Given the description of an element on the screen output the (x, y) to click on. 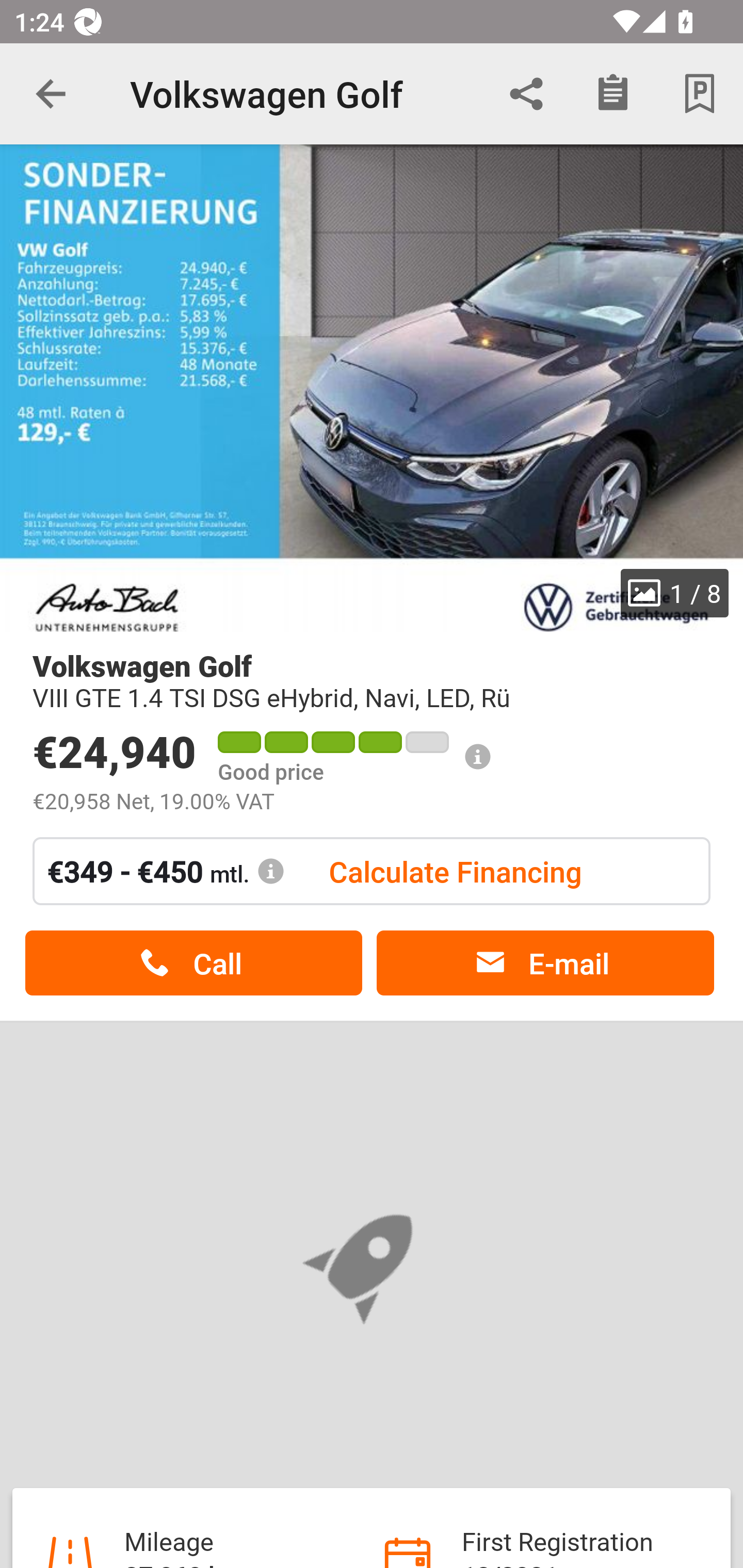
Navigate up (50, 93)
Share via (525, 93)
Checklist (612, 93)
Park (699, 93)
Calculate Financing (454, 870)
€349 - €450 mtl. (165, 870)
Call (193, 963)
E-mail (545, 963)
